Given the description of an element on the screen output the (x, y) to click on. 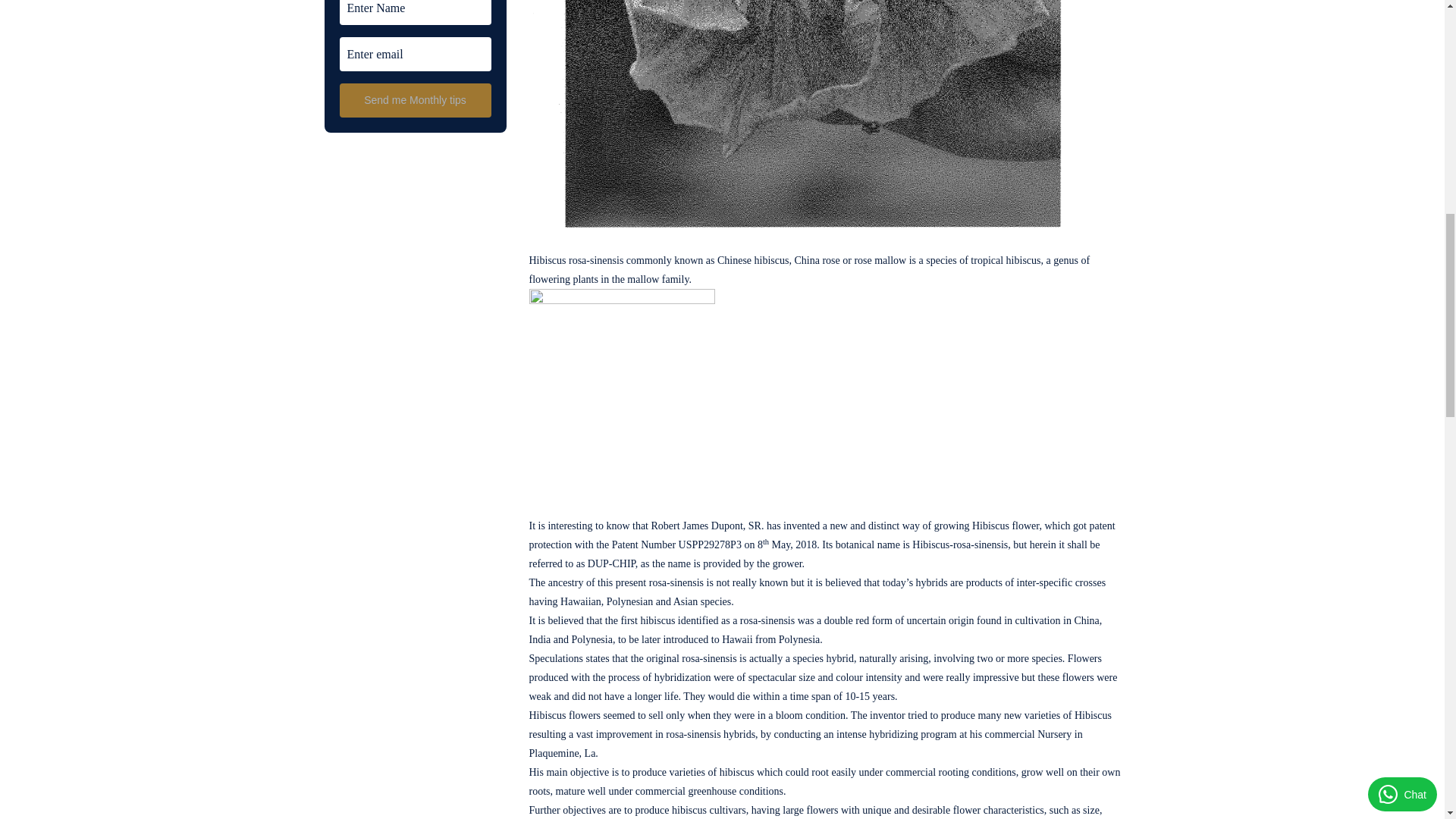
Send me Monthly tips (415, 100)
